Given the description of an element on the screen output the (x, y) to click on. 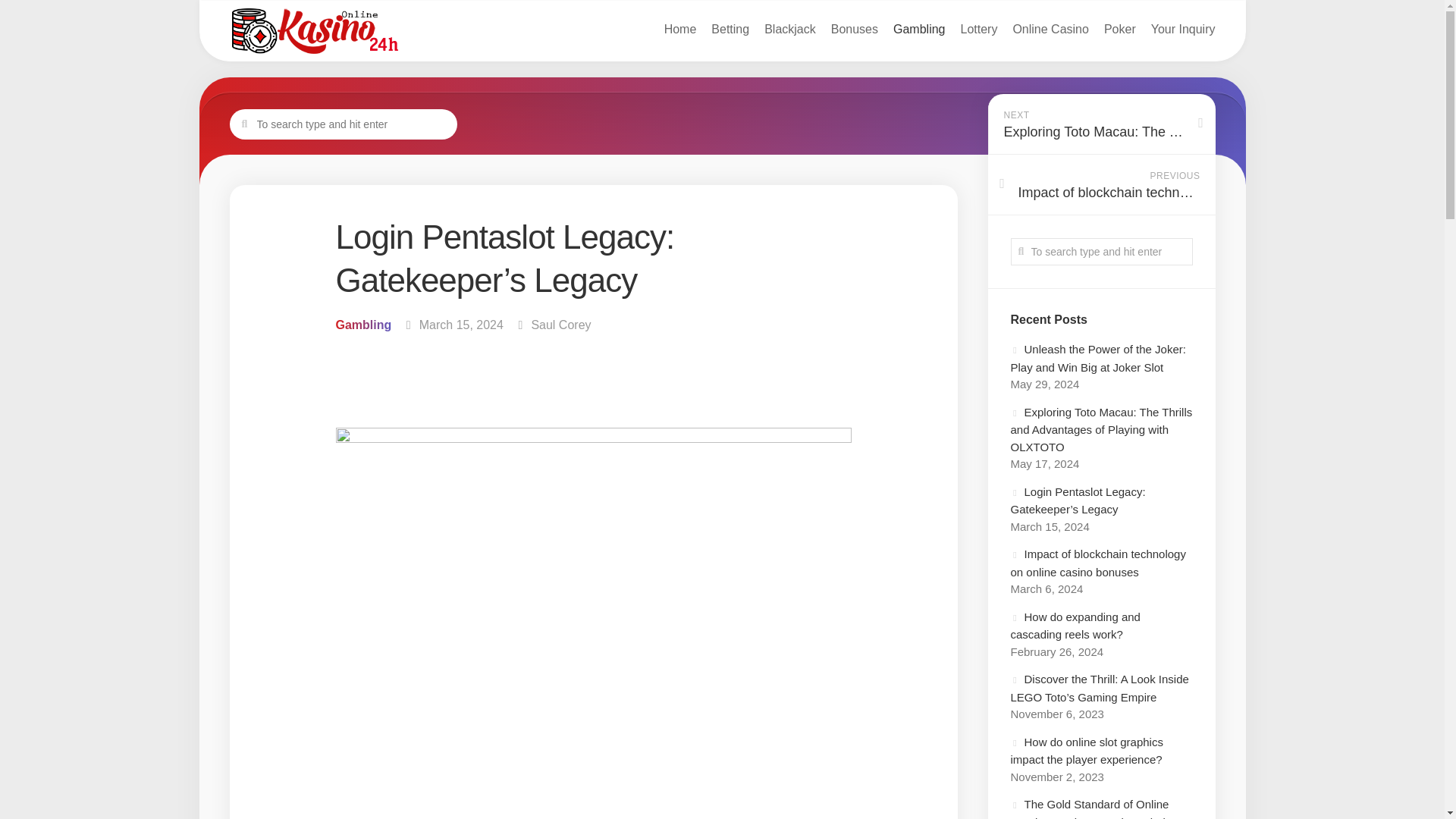
Saul Corey (561, 324)
Blackjack (789, 29)
Online Casino (1050, 29)
Your Inquiry (1183, 29)
Gambling (918, 29)
Home (680, 29)
To search type and hit enter (342, 123)
To search type and hit enter (1101, 251)
Poker (1119, 29)
Impact of blockchain technology on online casino bonuses (1097, 562)
Betting (730, 29)
How do expanding and cascading reels work? (1075, 625)
Posts by Saul Corey (561, 324)
Gambling (362, 324)
